Given the description of an element on the screen output the (x, y) to click on. 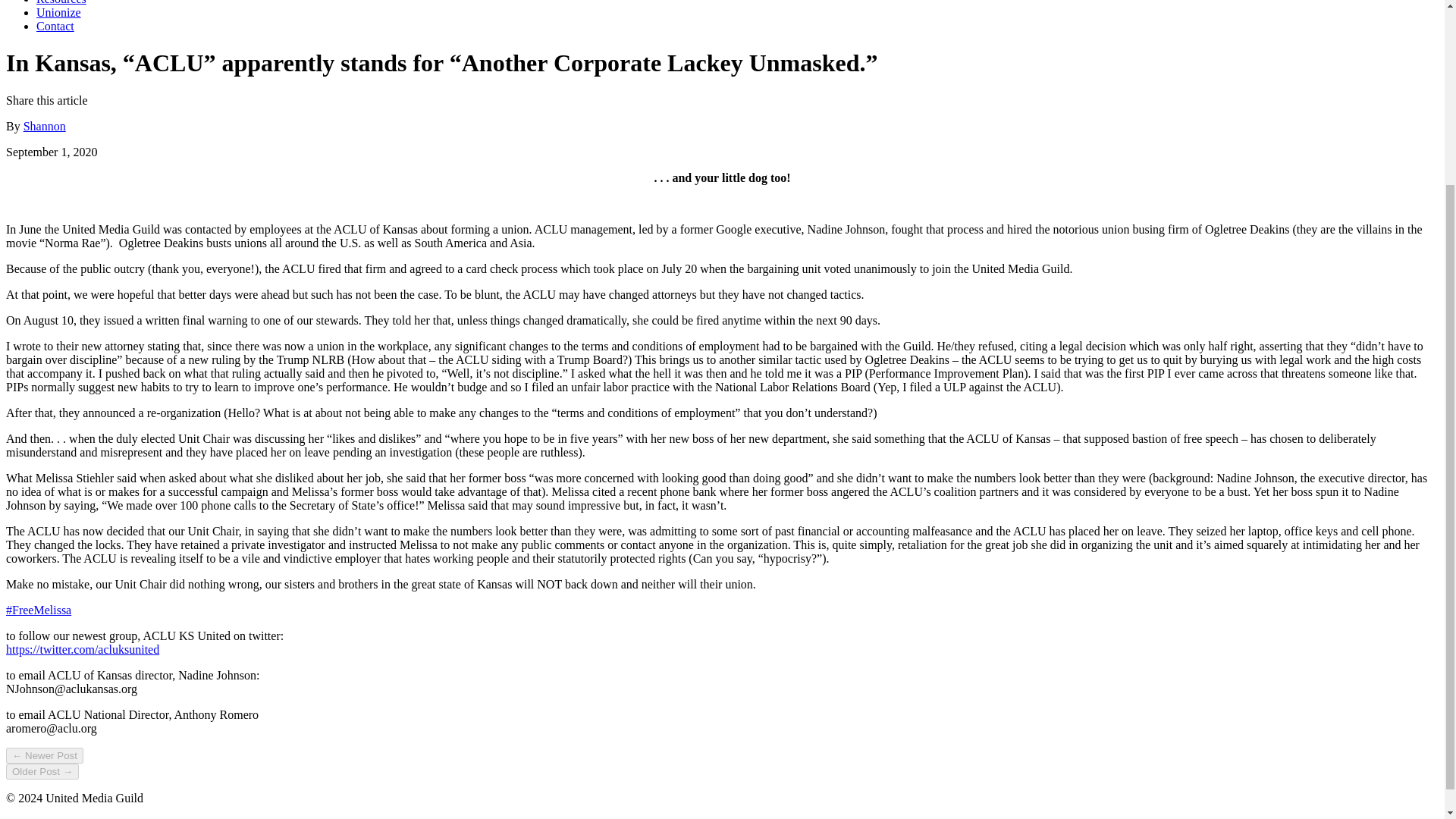
Unionize (58, 11)
Resources (60, 2)
Shannon (44, 125)
Contact (55, 25)
